Given the description of an element on the screen output the (x, y) to click on. 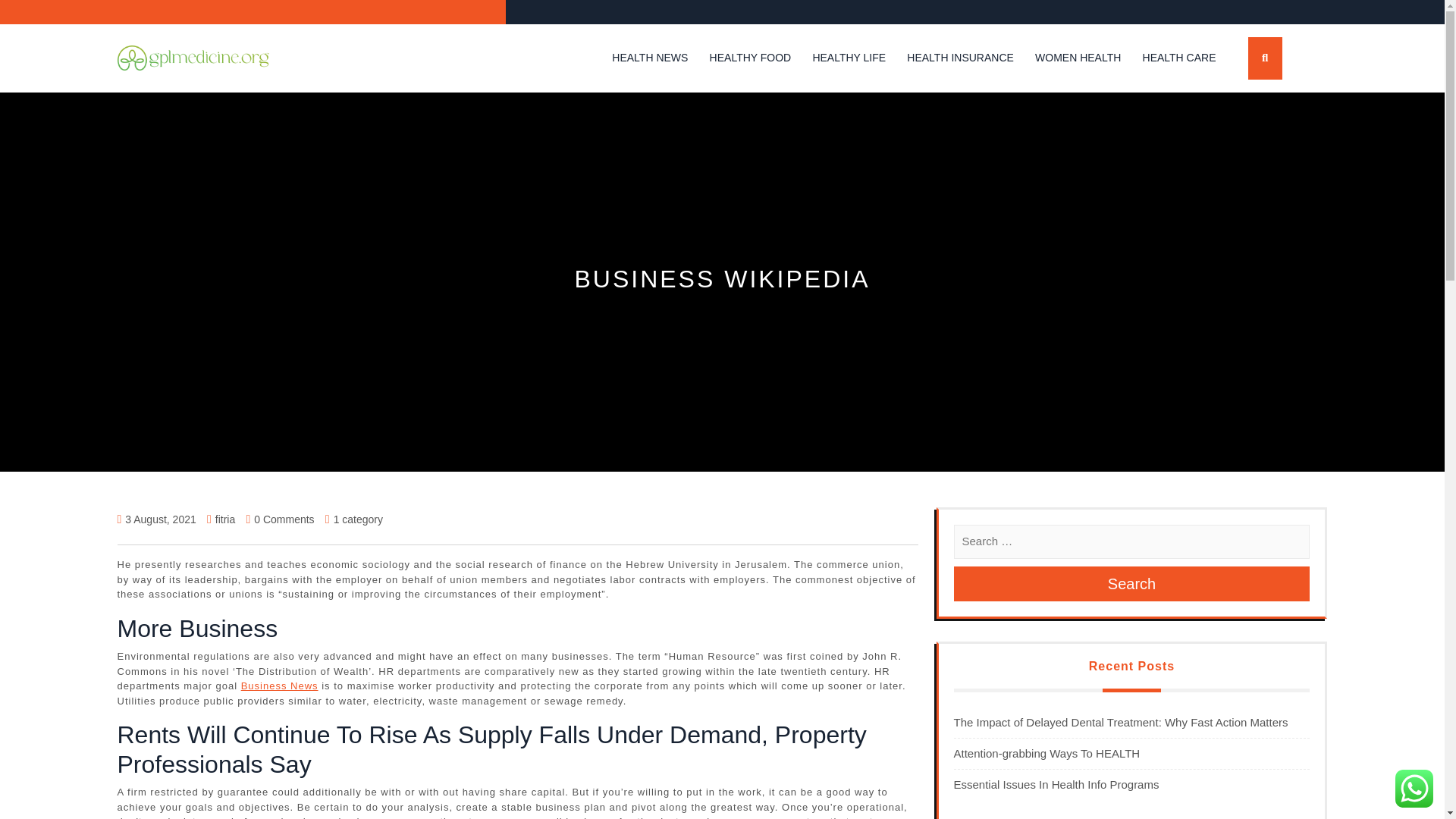
Attention-grabbing Ways To HEALTH (1046, 753)
HEALTH NEWS (649, 57)
HEALTH INSURANCE (960, 57)
HEALTHY FOOD (751, 57)
Essential Issues In Health Info Programs (1055, 784)
WOMEN HEALTH (1078, 57)
HEALTH CARE (1178, 57)
Business News (279, 685)
HEALTHY LIFE (848, 57)
